Given the description of an element on the screen output the (x, y) to click on. 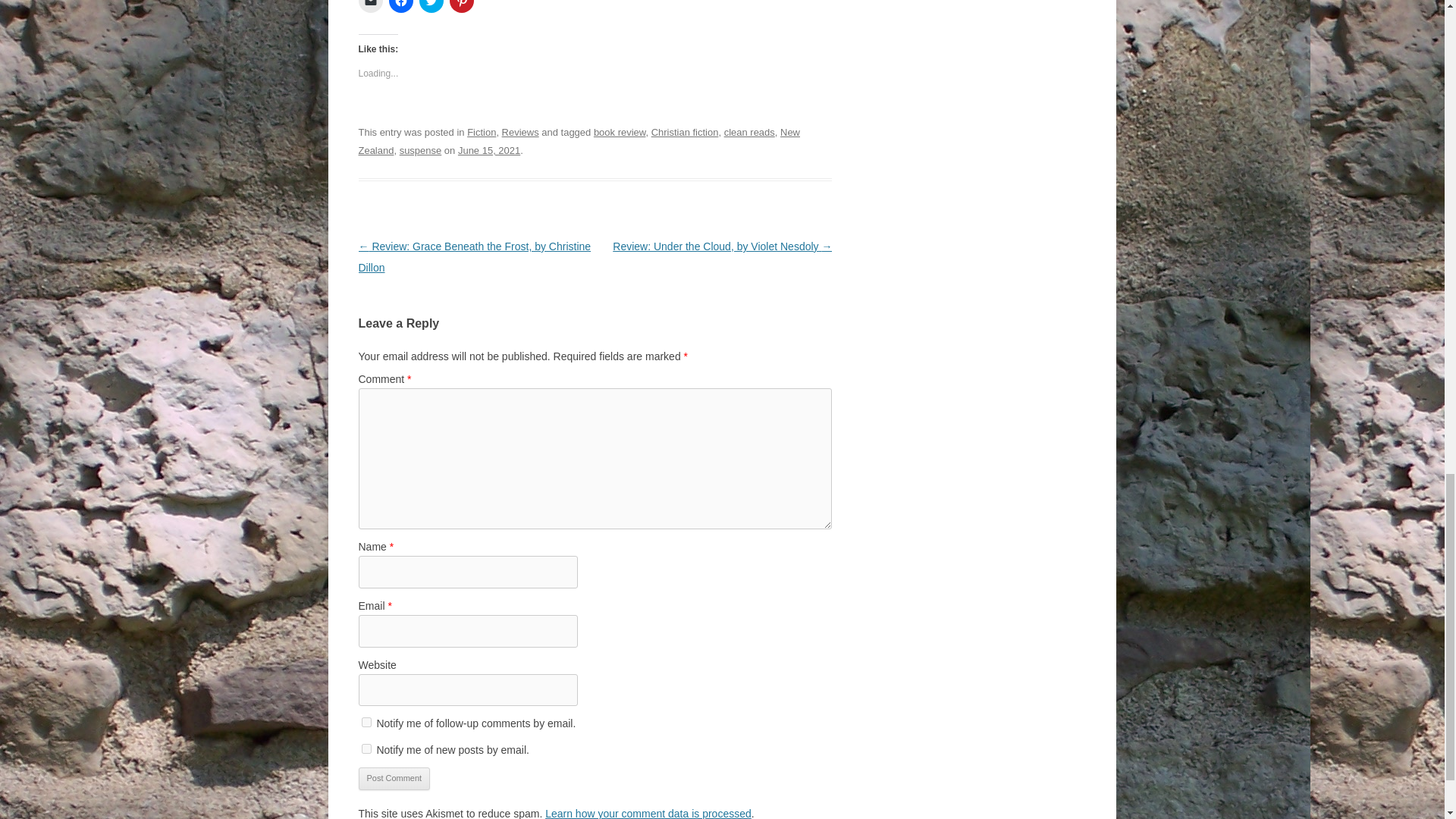
subscribe (366, 748)
Click to share on Facebook (400, 6)
6:00 am (488, 150)
Click to share on Pinterest (460, 6)
Post Comment (393, 778)
Click to share on Twitter (430, 6)
Click to email a link to a friend (369, 6)
subscribe (366, 722)
